Given the description of an element on the screen output the (x, y) to click on. 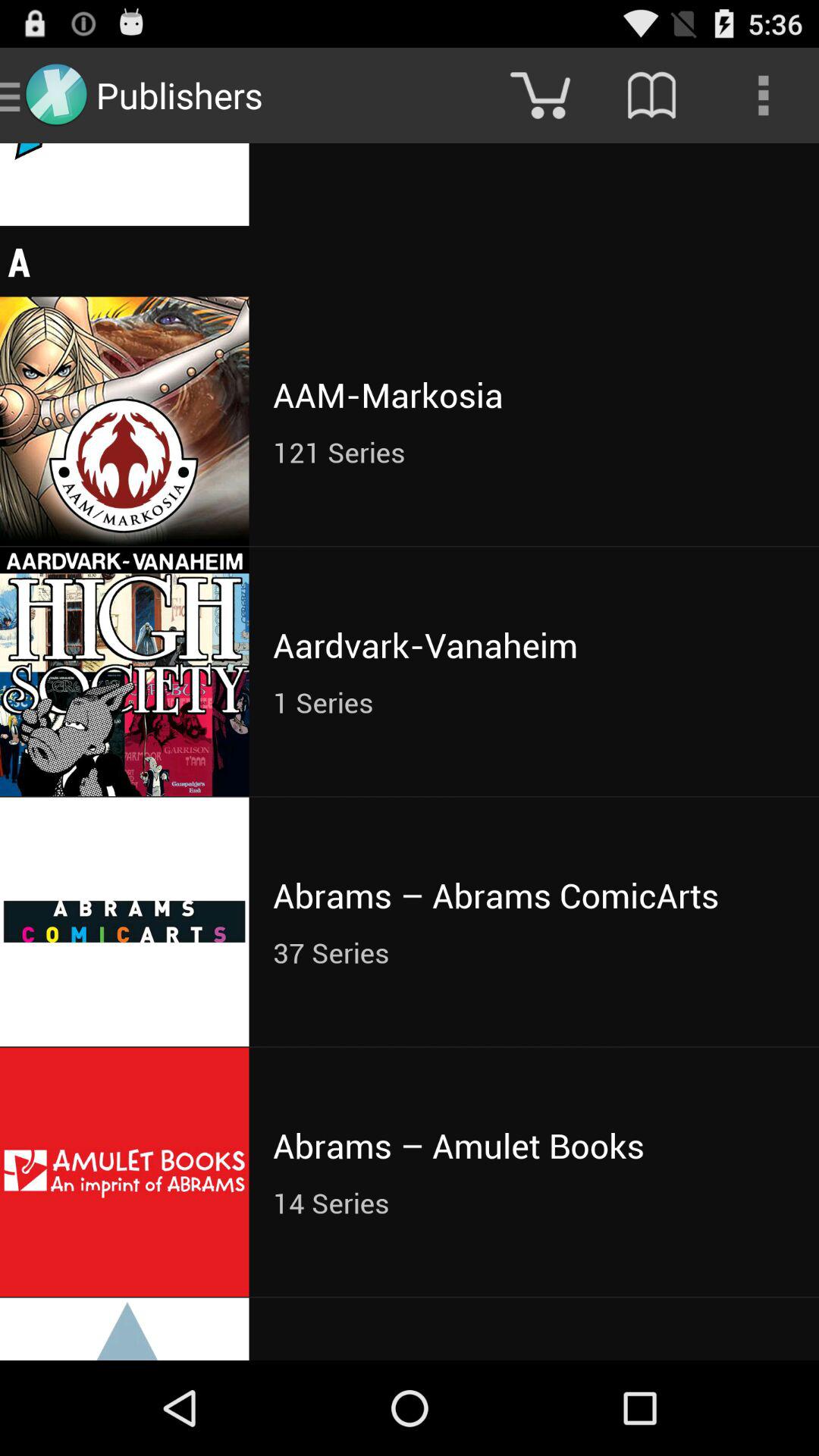
turn off icon above 121 series icon (534, 394)
